Given the description of an element on the screen output the (x, y) to click on. 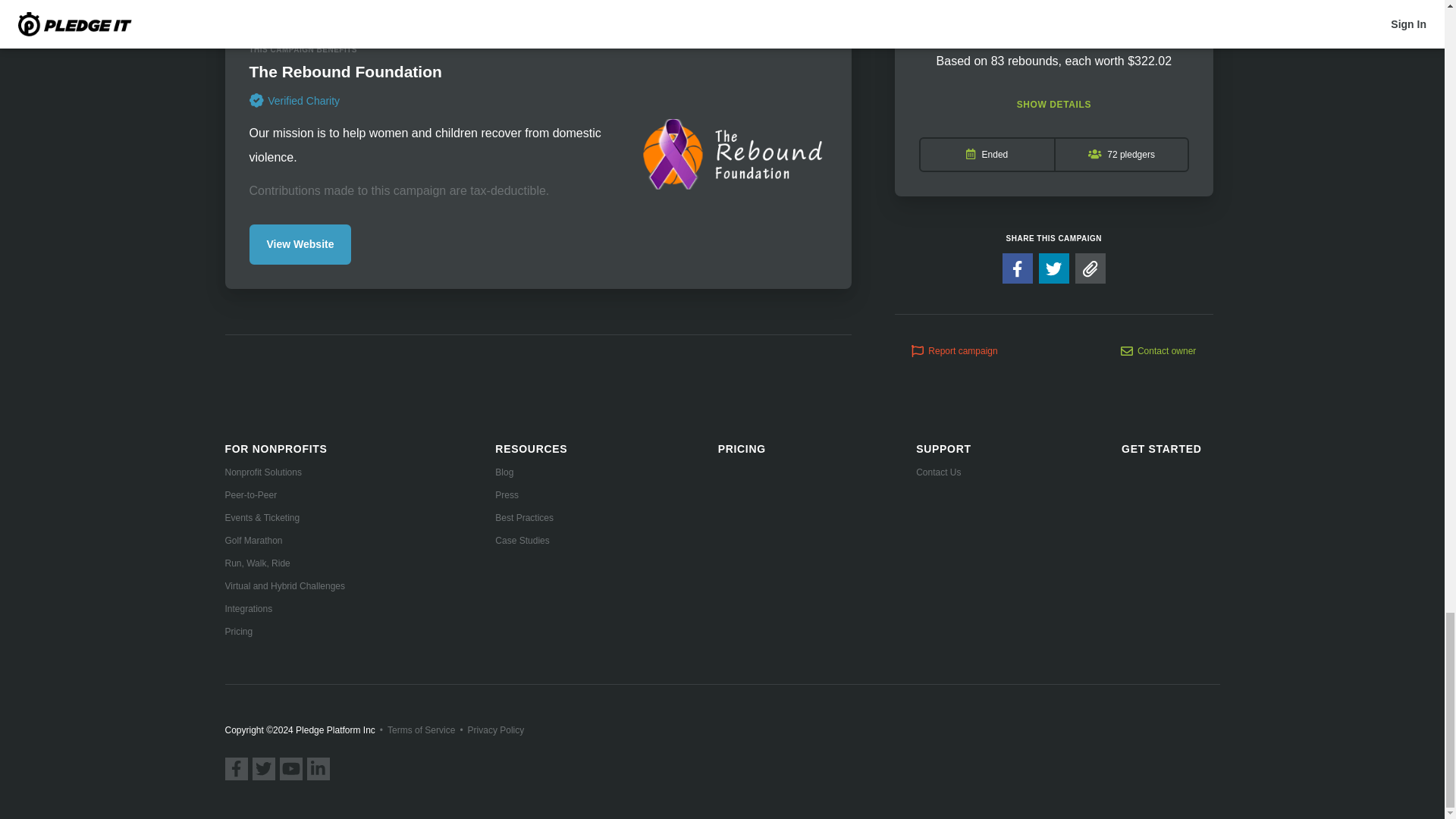
Integrations (284, 608)
Virtual and Hybrid Challenges (284, 585)
GET STARTED (1161, 449)
Peer-to-Peer (284, 495)
SUPPORT (943, 449)
Terms of Service (420, 729)
View Website (300, 244)
Golf Marathon (284, 540)
Blog (531, 472)
RESOURCES (531, 449)
